Given the description of an element on the screen output the (x, y) to click on. 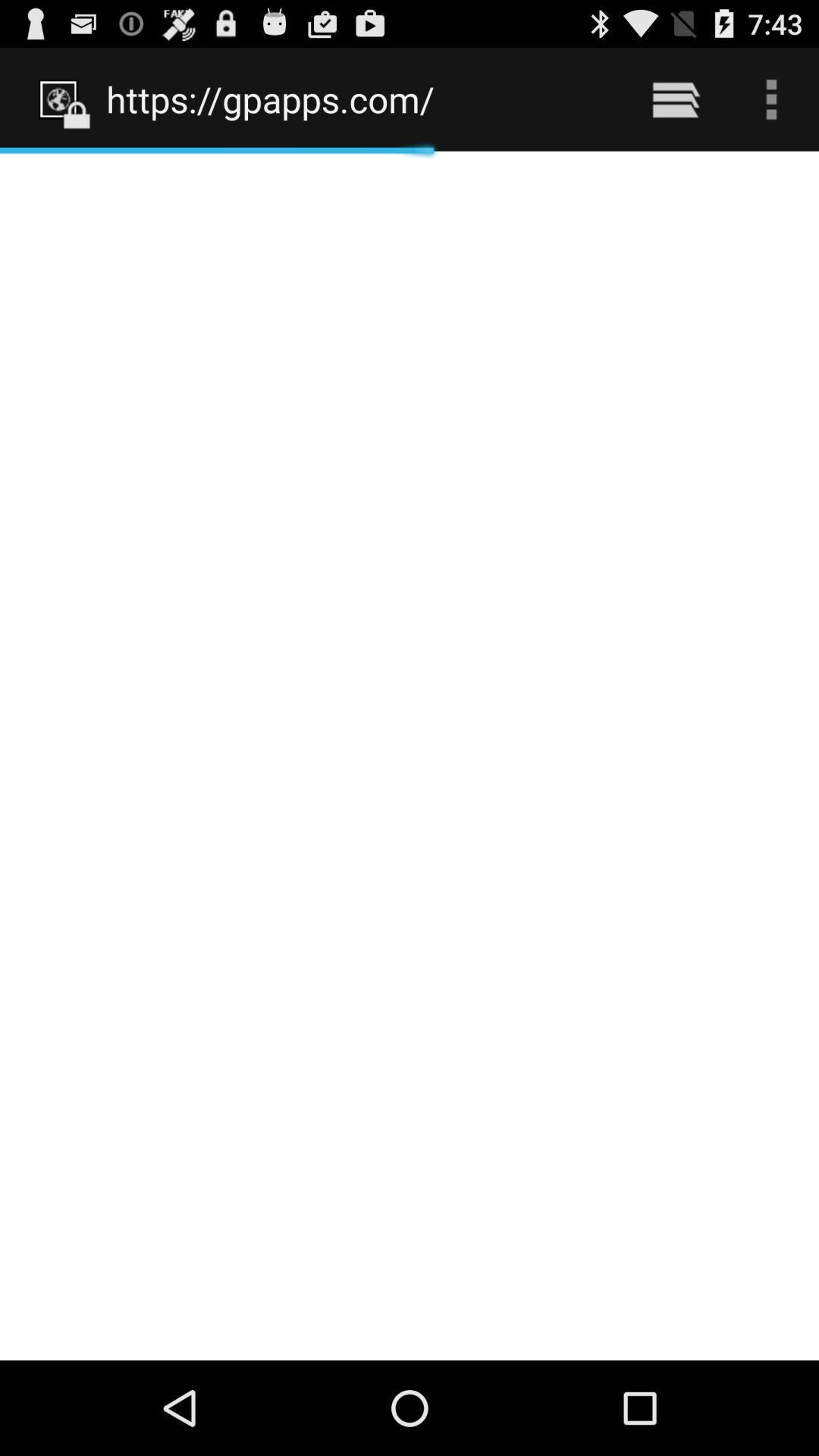
scroll until https://gpapps.com/ (357, 99)
